Given the description of an element on the screen output the (x, y) to click on. 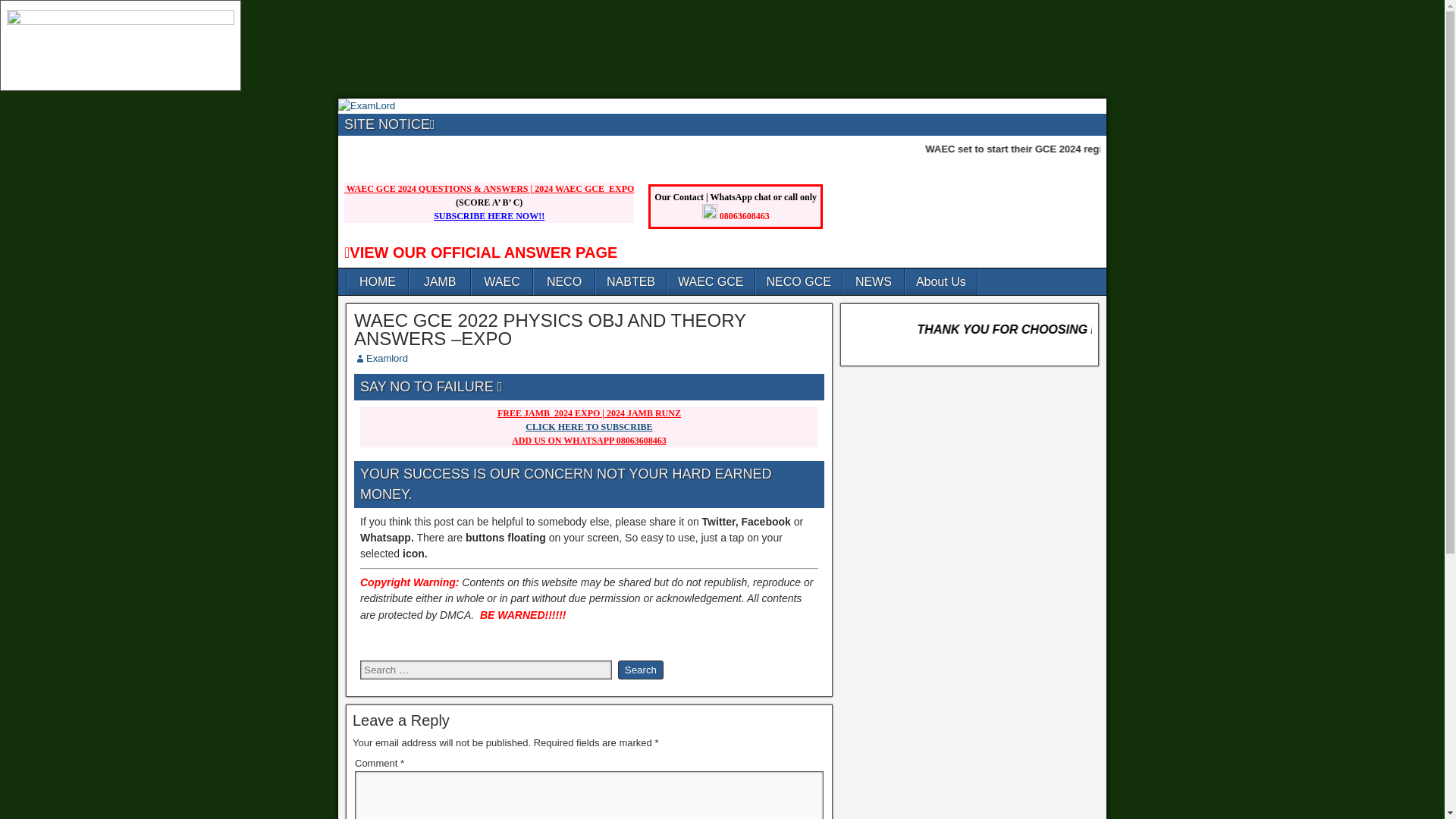
Search (640, 669)
NABTEB (630, 281)
CLICK HERE TO SUBSCRIBE (588, 426)
4 WAEC GCE (576, 188)
EXPO (620, 188)
NECO GCE (798, 281)
NEWS (873, 281)
SUBSCRIBE HERE NOW!! (488, 215)
HOME (377, 281)
Examlord (386, 357)
WAEC GCE (710, 281)
Search (640, 669)
About Us (940, 281)
WAEC (501, 281)
NECO (564, 281)
